Given the description of an element on the screen output the (x, y) to click on. 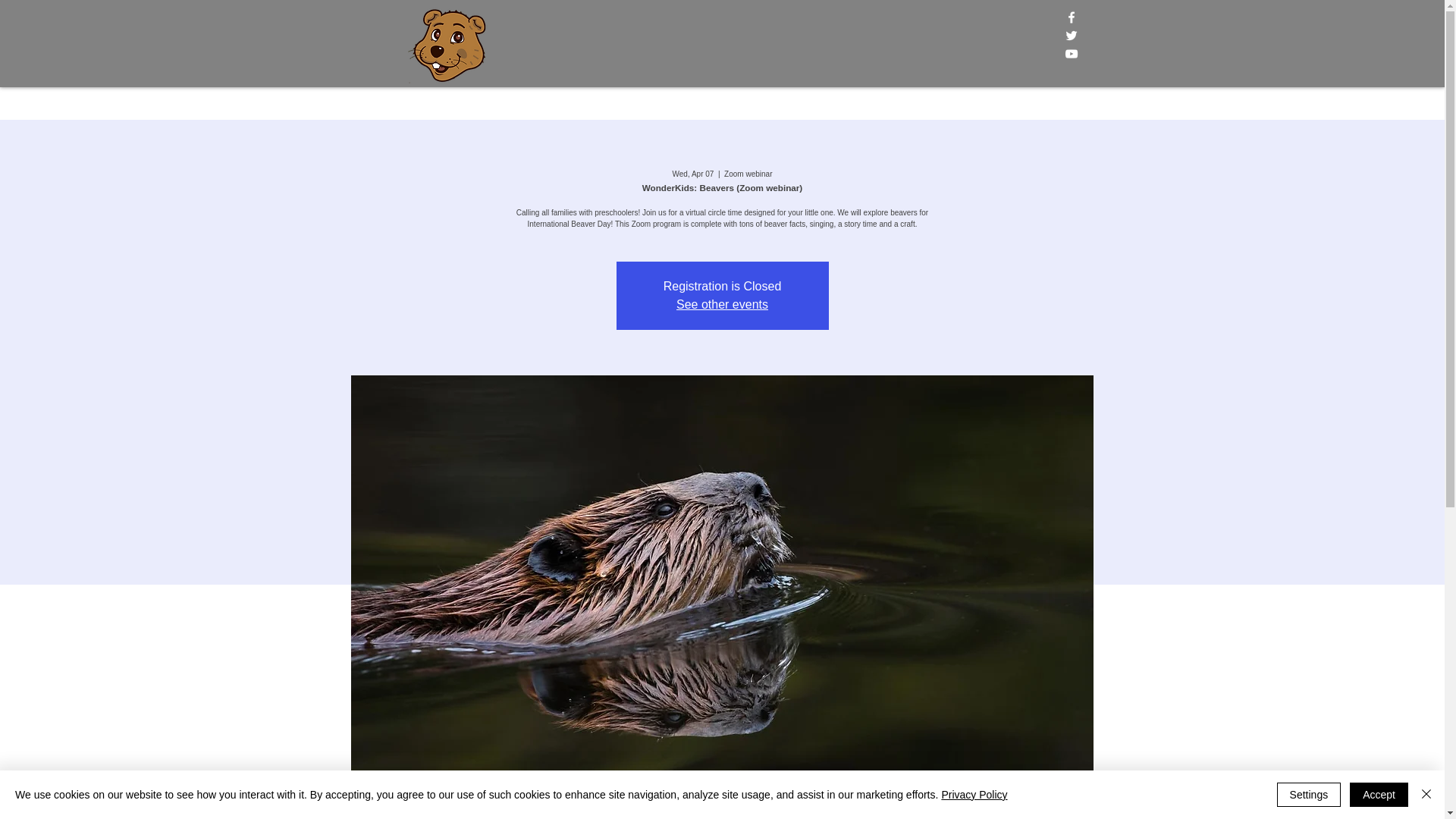
Settings (1308, 794)
Accept (1378, 794)
See other events (722, 304)
Privacy Policy (973, 794)
